Given the description of an element on the screen output the (x, y) to click on. 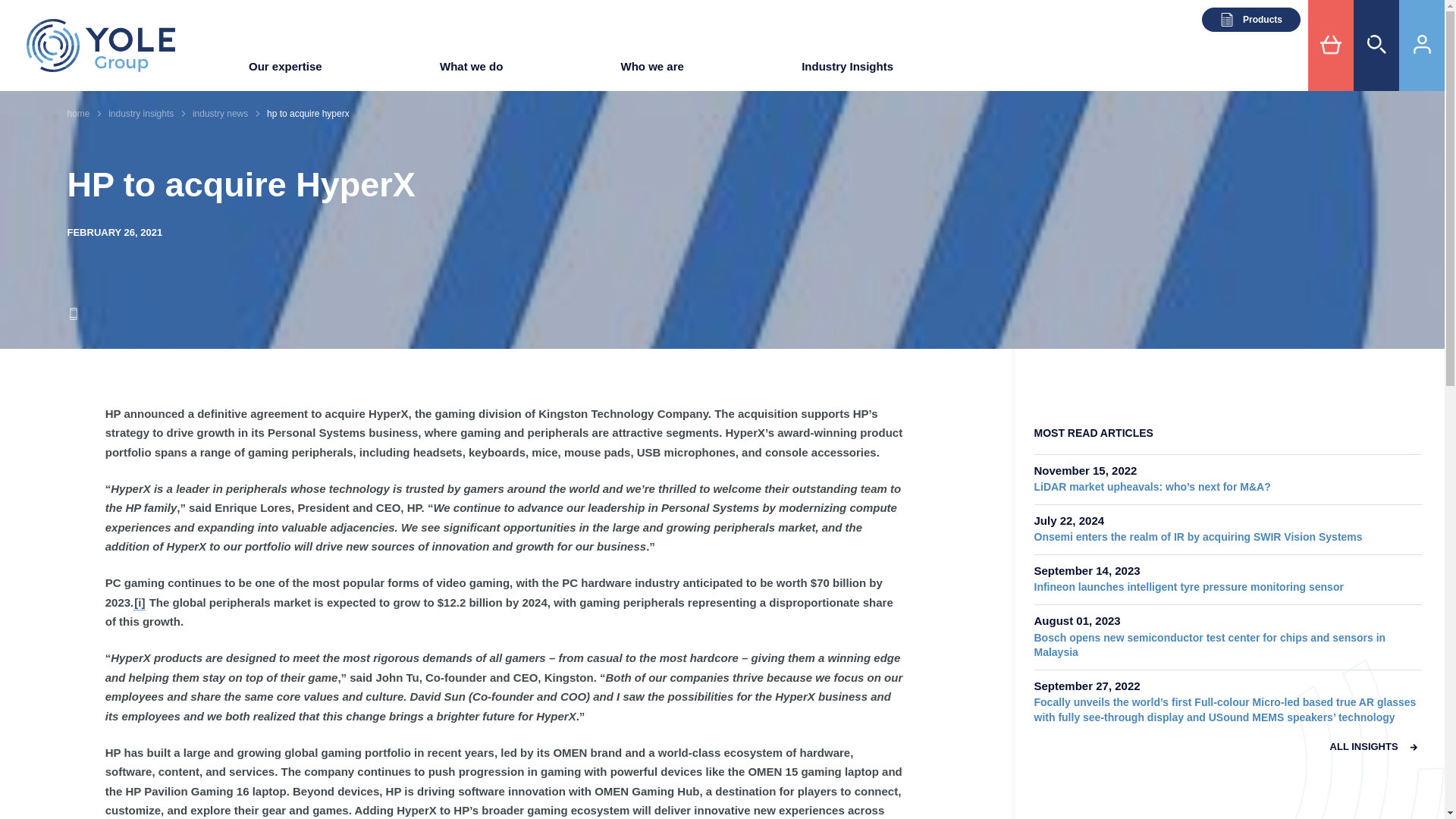
Products (1251, 19)
Our expertise (284, 71)
Who we are (652, 71)
What we do (470, 71)
